Given the description of an element on the screen output the (x, y) to click on. 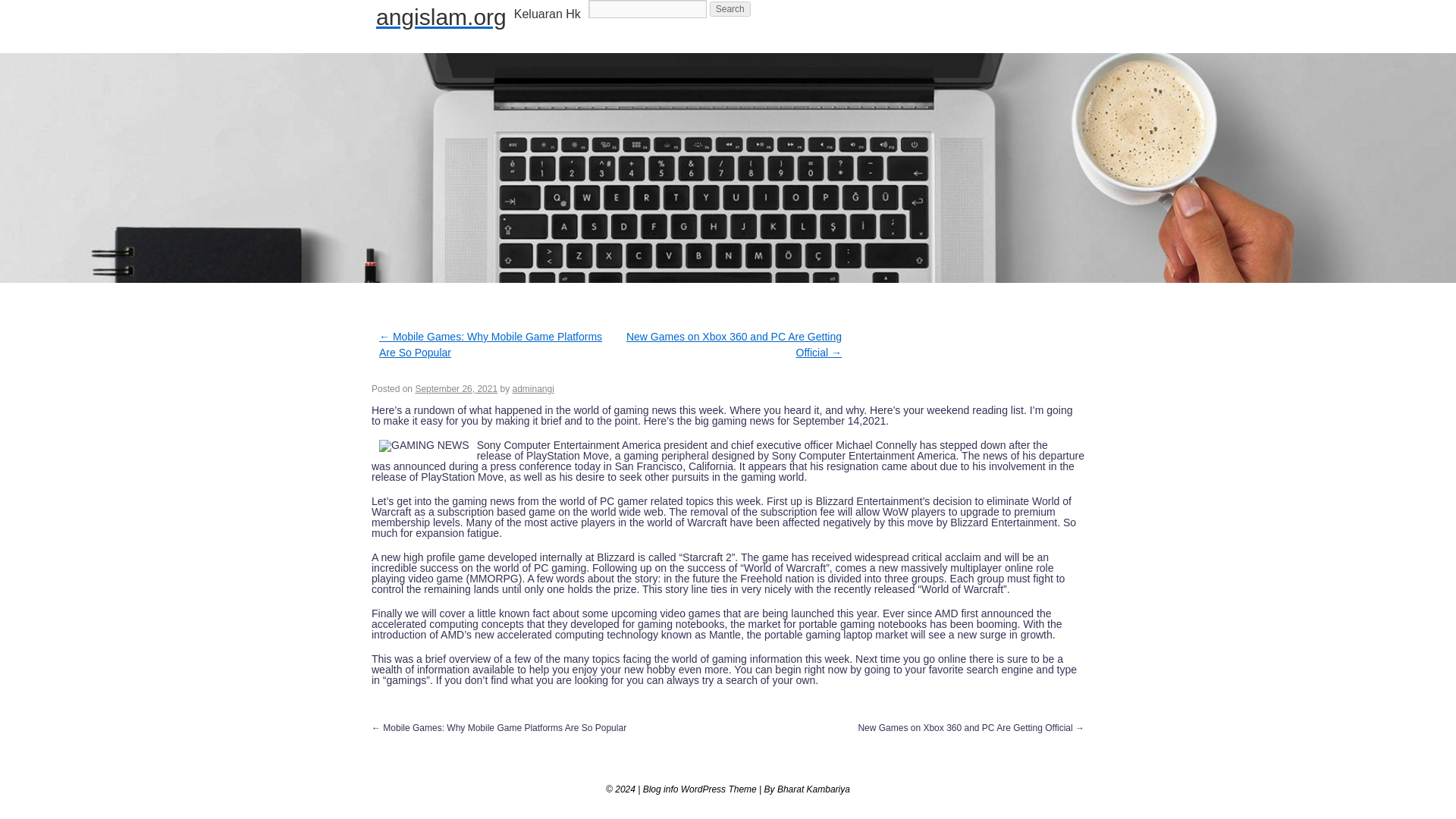
Keluaran Hk (547, 14)
5:44 am (455, 388)
adminangi (533, 388)
Search (730, 8)
Search (730, 8)
angislam.org (440, 16)
September 26, 2021 (455, 388)
View all posts by adminangi (533, 388)
